Given the description of an element on the screen output the (x, y) to click on. 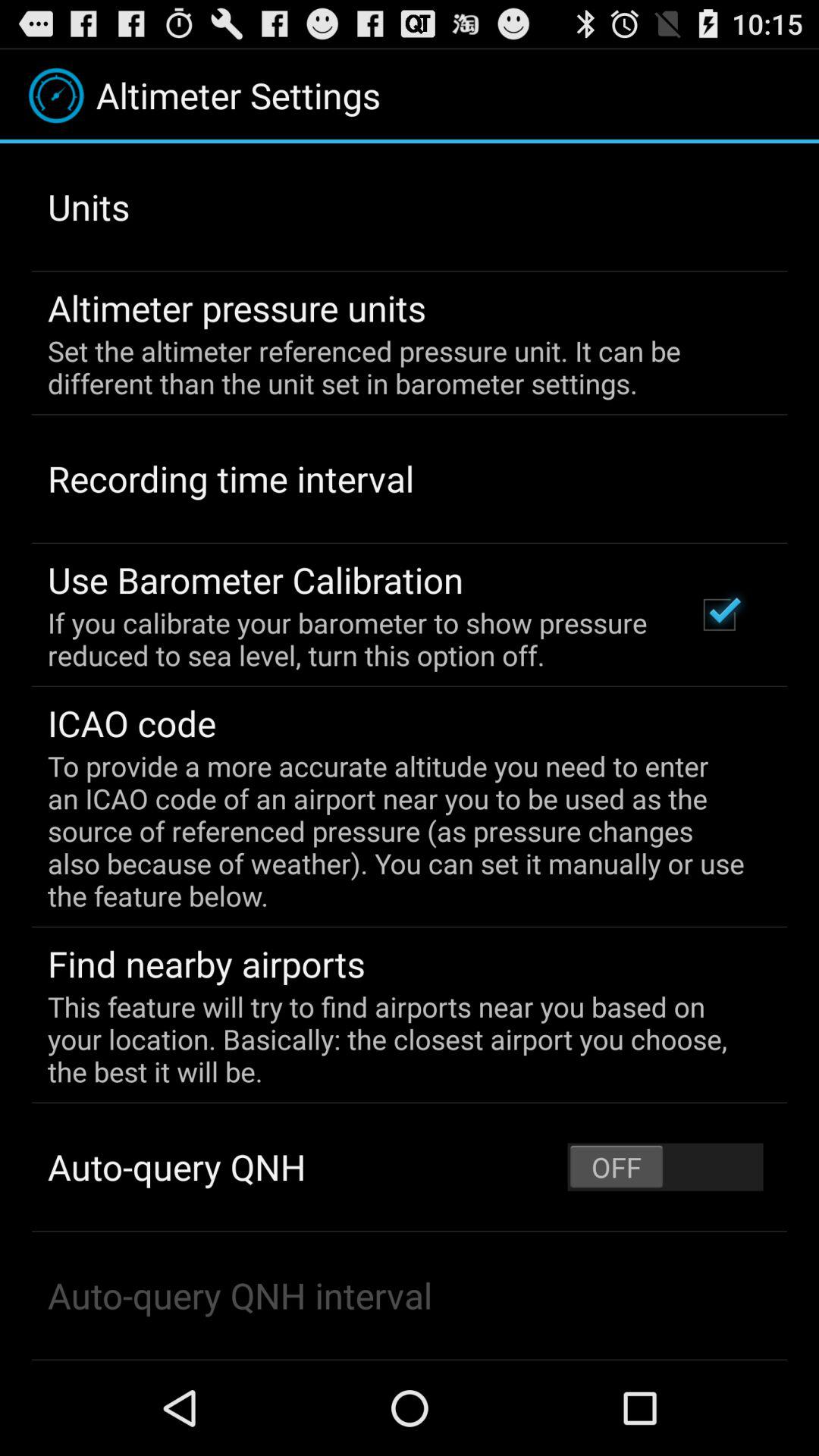
select the icon below set the altimeter icon (719, 614)
